Given the description of an element on the screen output the (x, y) to click on. 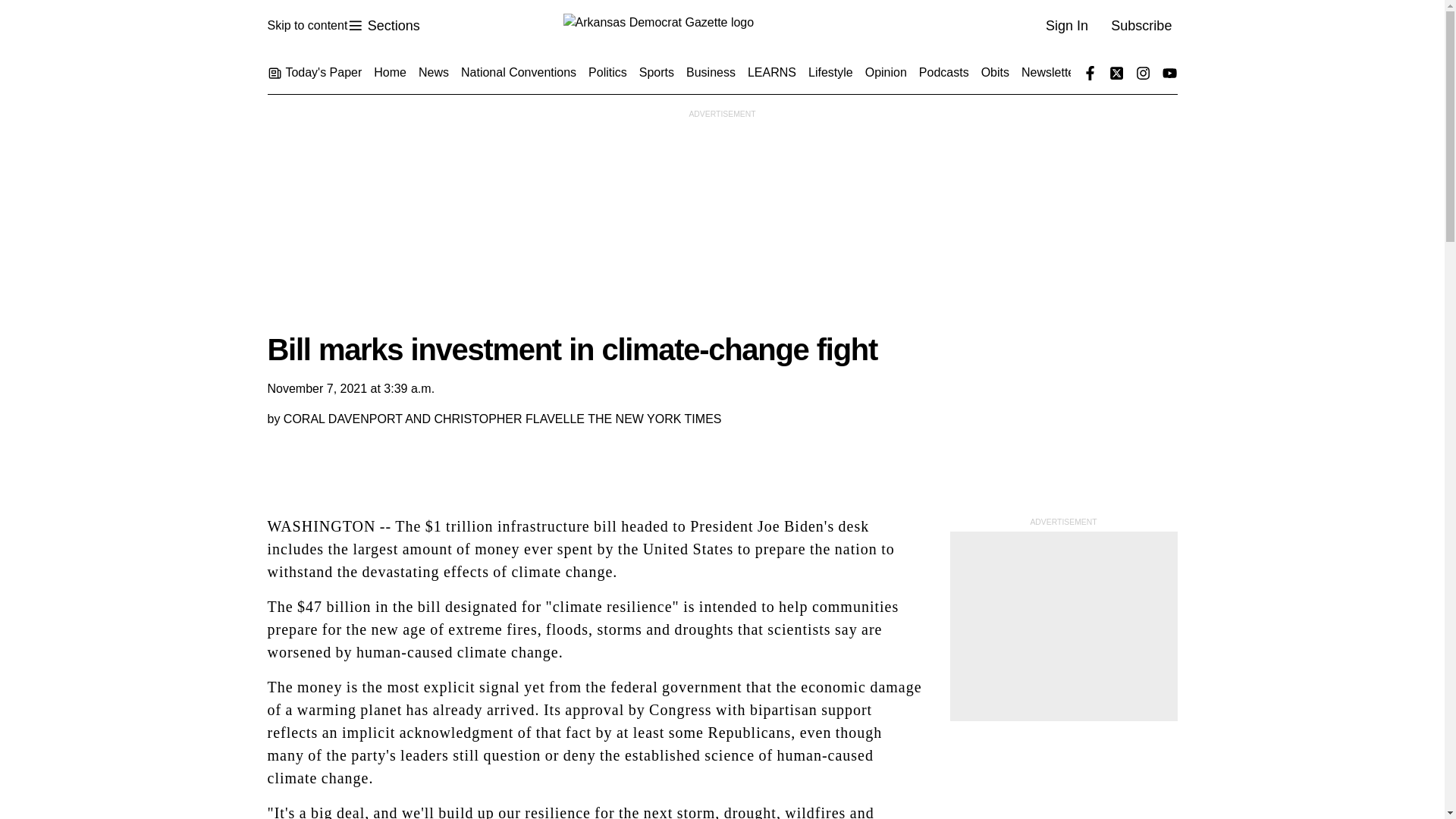
Skip to content (306, 25)
Arkansas Democrat Gazette (721, 25)
